Given the description of an element on the screen output the (x, y) to click on. 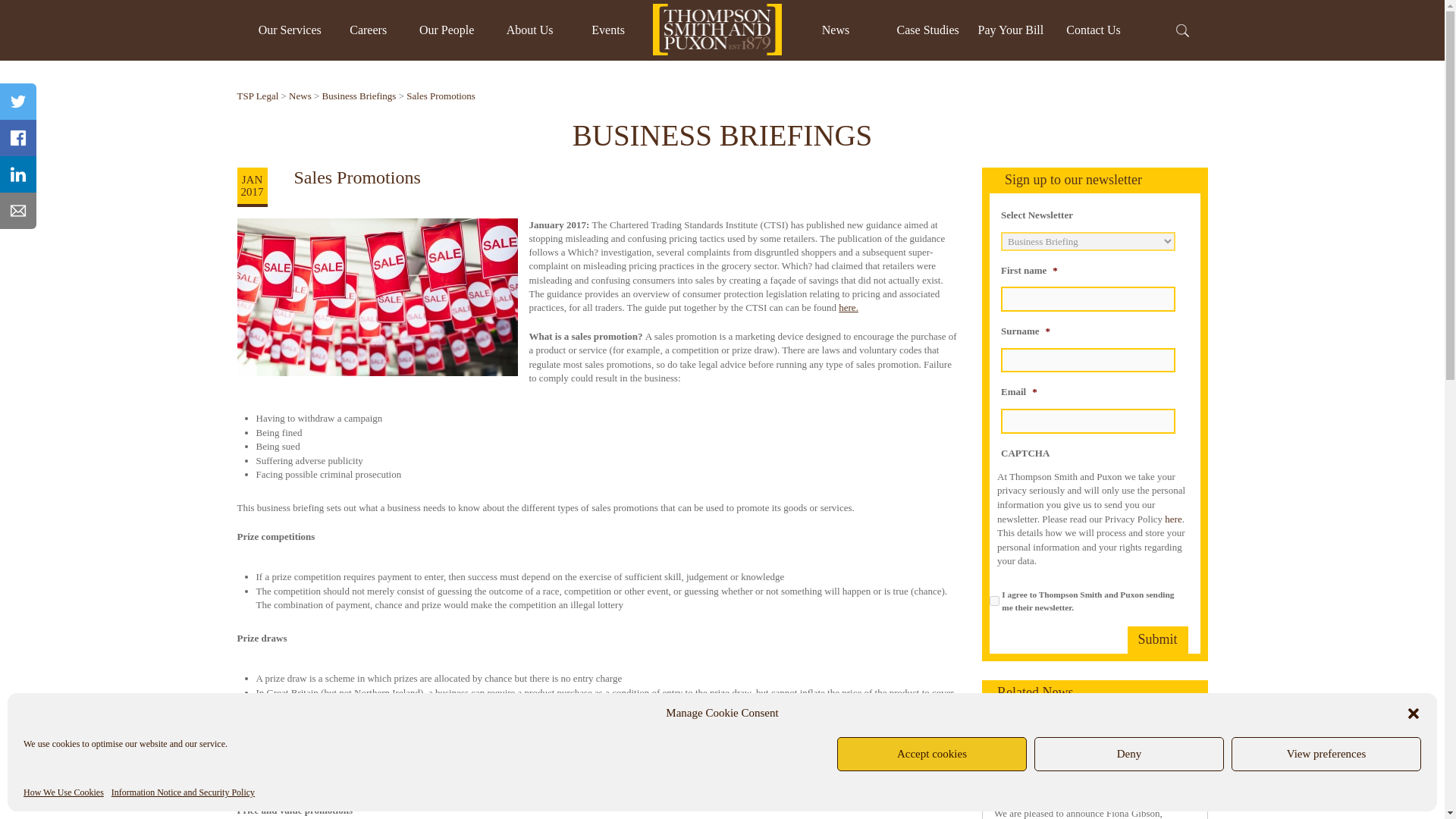
Deny (1128, 754)
Accept cookies (931, 754)
Submit (1157, 639)
Our Services (289, 30)
How We Use Cookies (63, 792)
Home Page (716, 30)
View preferences (1326, 754)
Our Services (289, 30)
Information Notice and Security Policy (183, 792)
Events (607, 30)
Careers (367, 30)
News (835, 30)
About Us (529, 30)
Our People (445, 30)
